Given the description of an element on the screen output the (x, y) to click on. 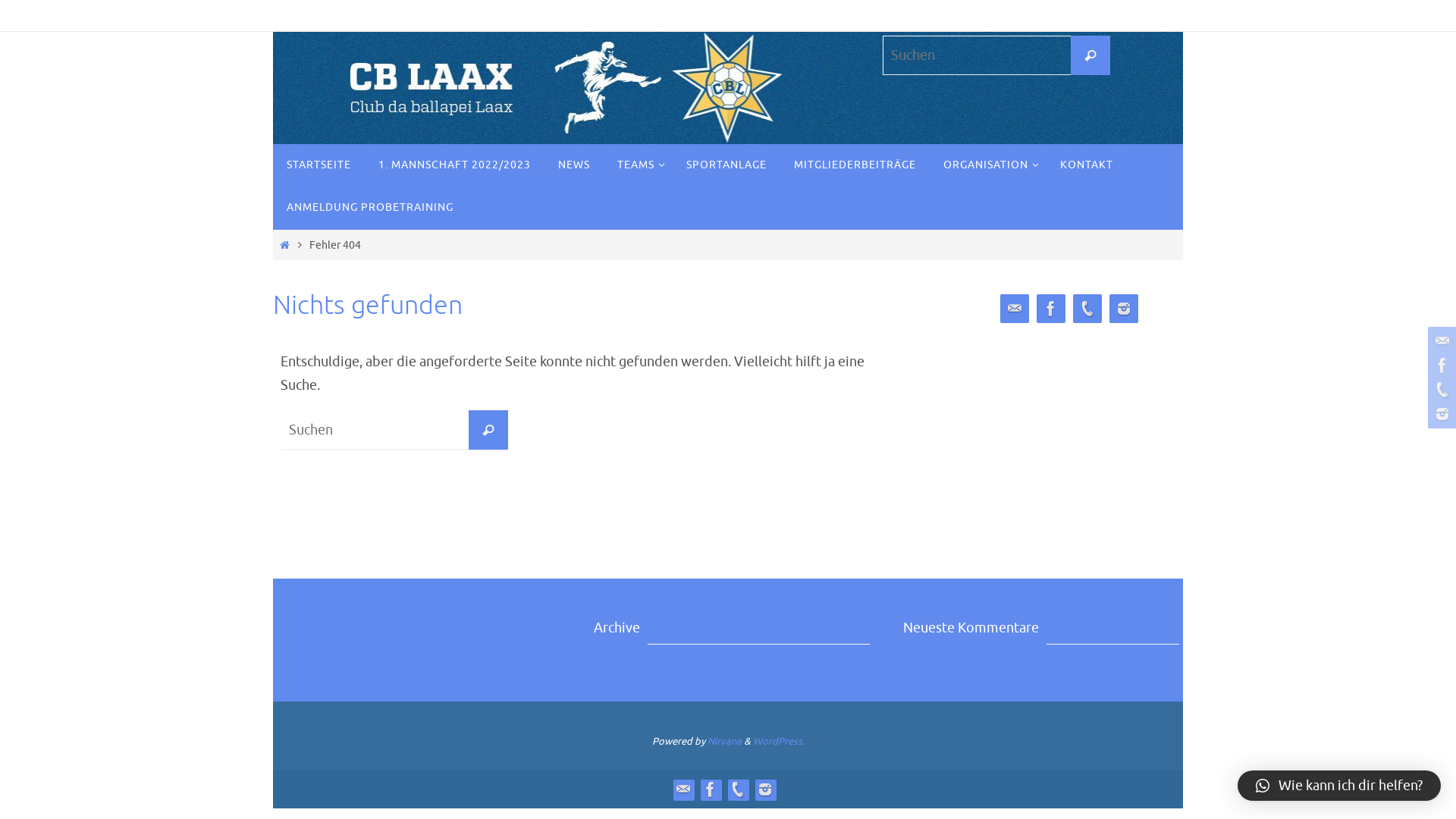
Phone Element type: hover (1439, 389)
Contact Element type: hover (1439, 340)
TEAMS Element type: text (637, 165)
STARTSEITE Element type: text (318, 165)
Instagram Element type: hover (765, 789)
ANMELDUNG PROBETRAINING Element type: text (370, 207)
Instagram Element type: hover (1123, 308)
NEWS Element type: text (573, 165)
Nirvana Element type: text (723, 740)
Facebook Element type: hover (1050, 308)
Phone Element type: hover (1087, 308)
1. MANNSCHAFT 2022/2023 Element type: text (454, 165)
WordPress. Element type: text (777, 740)
Wie kann ich dir helfen? Element type: text (1338, 785)
KONTAKT Element type: text (1086, 165)
Contact Element type: hover (1014, 308)
Instagram Element type: hover (1439, 413)
ORGANISATION Element type: text (987, 165)
SPORTANLAGE Element type: text (726, 165)
Facebook Element type: hover (710, 789)
Phone Element type: hover (737, 789)
Contact Element type: hover (683, 789)
Facebook Element type: hover (1439, 365)
